Given the description of an element on the screen output the (x, y) to click on. 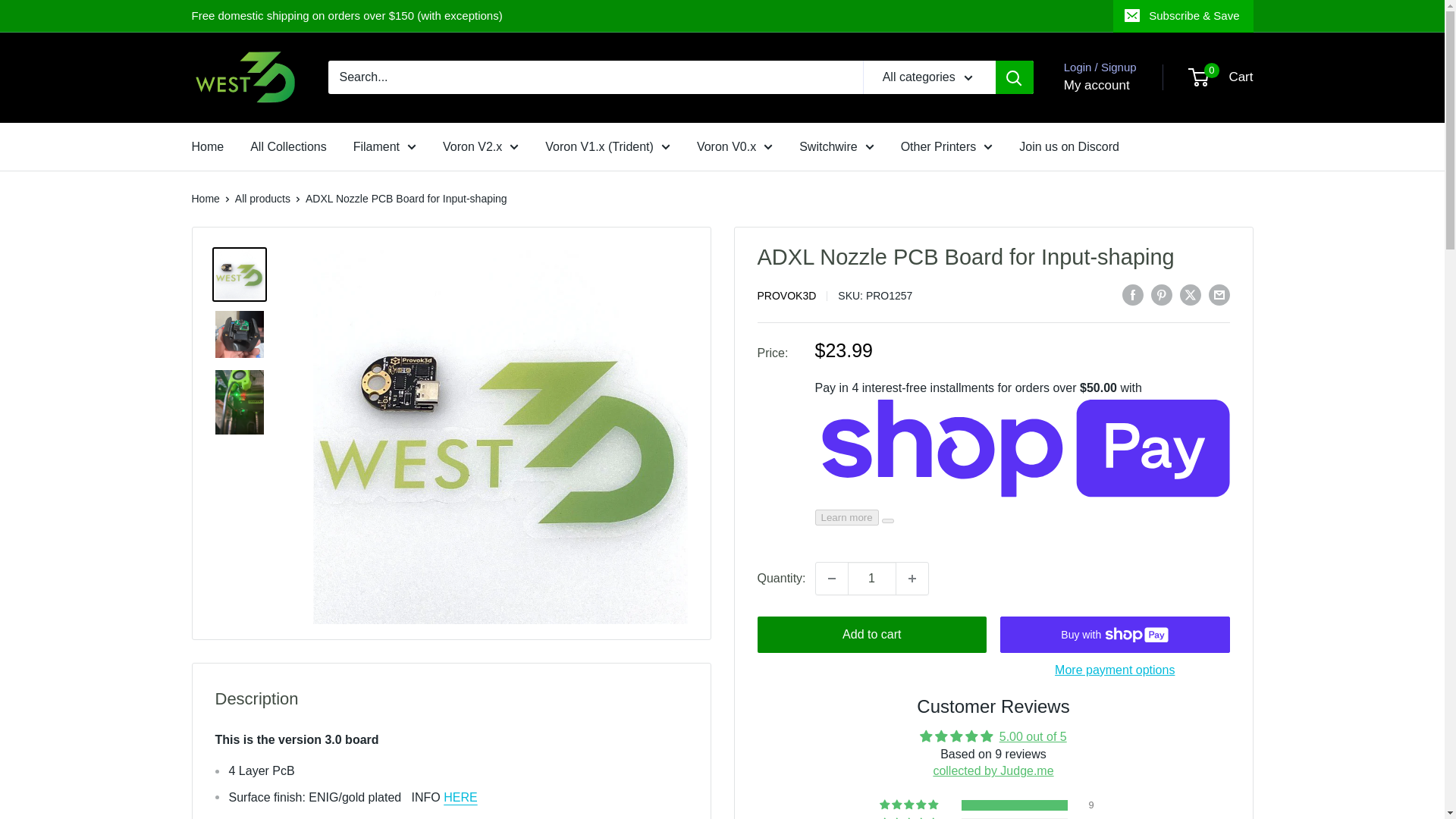
Increase quantity by 1 (912, 578)
1 (871, 578)
Decrease quantity by 1 (831, 578)
